Given the description of an element on the screen output the (x, y) to click on. 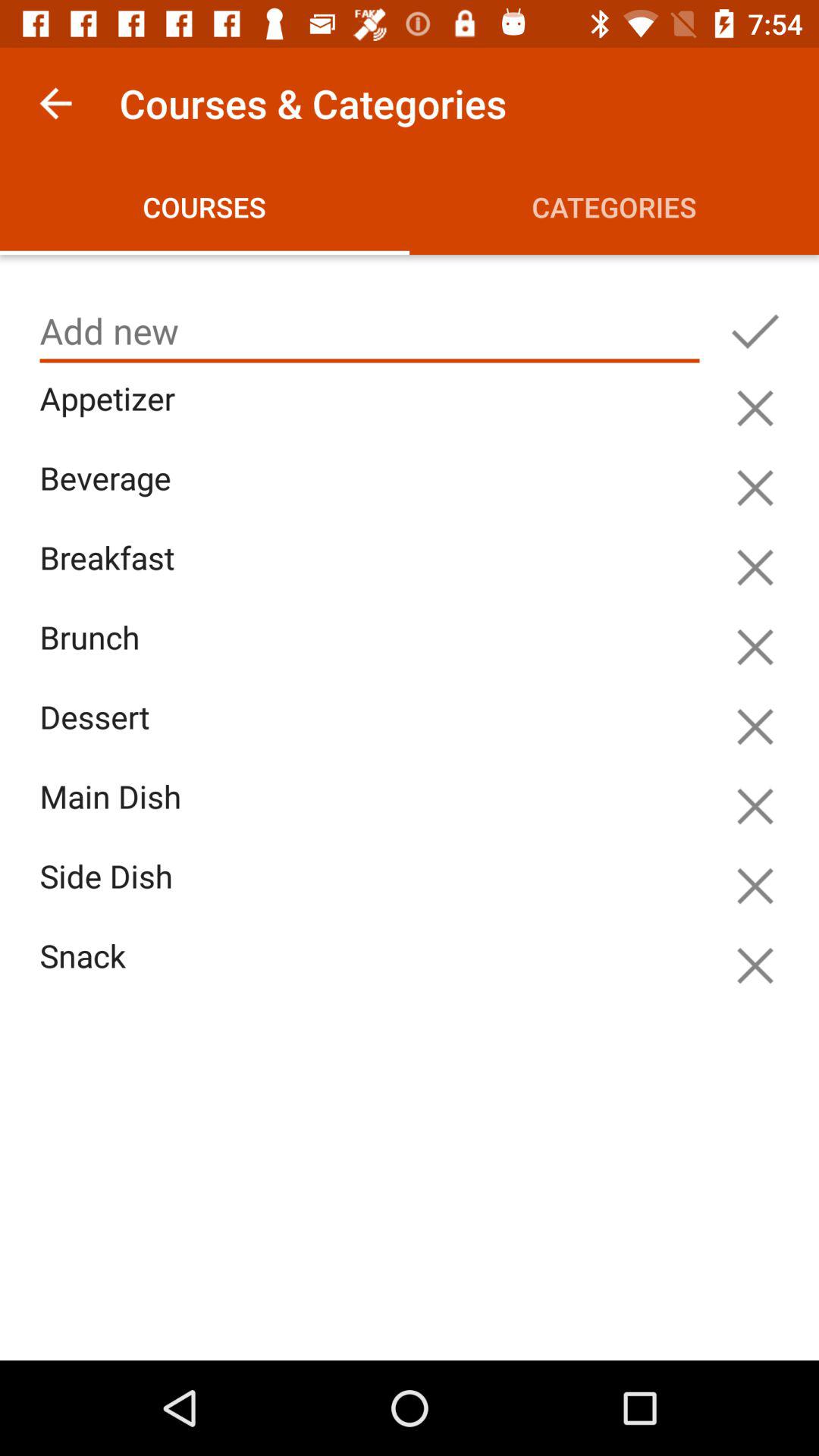
choose icon below the brunch icon (373, 734)
